Given the description of an element on the screen output the (x, y) to click on. 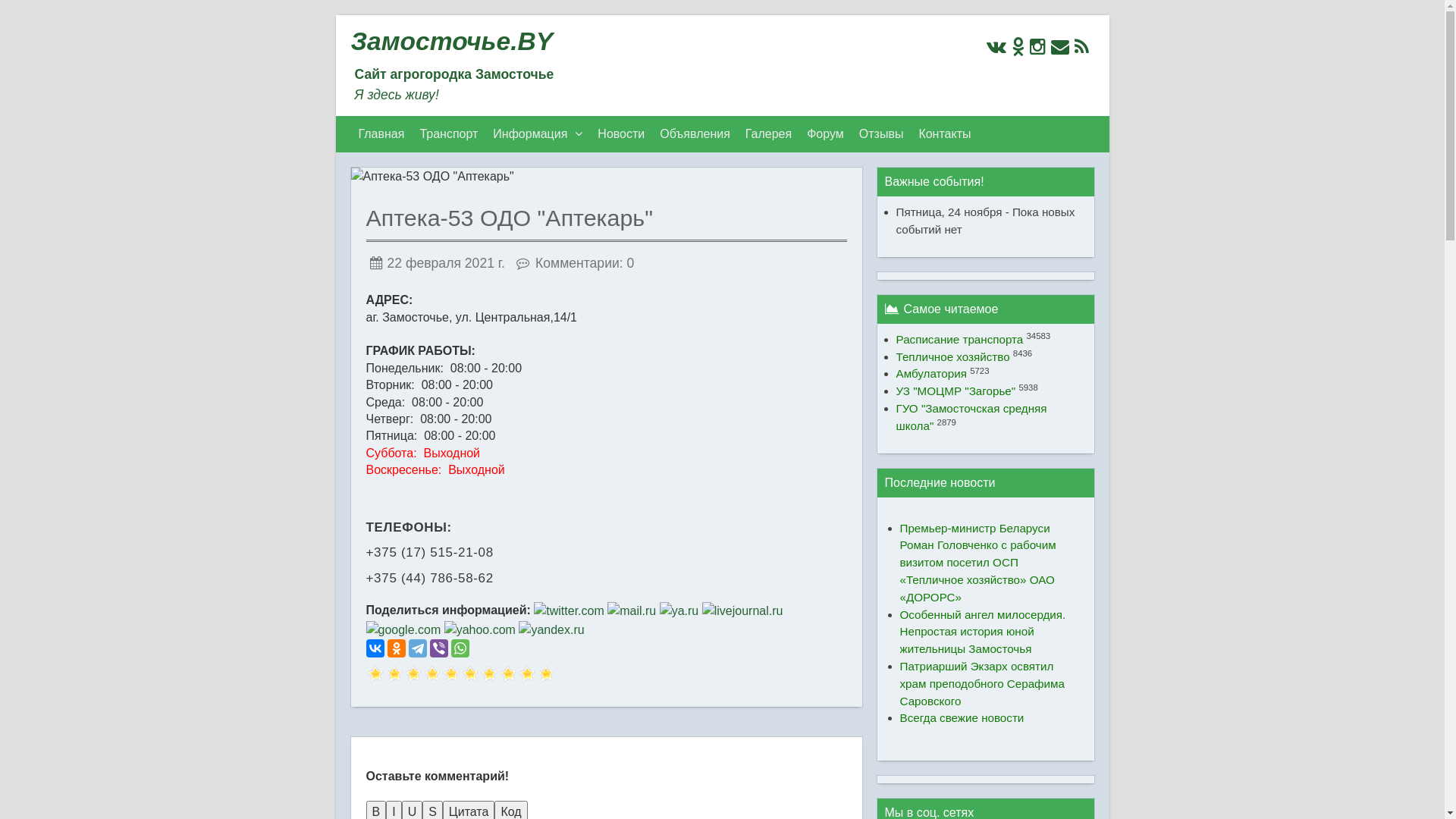
7 Element type: text (431, 674)
4 Element type: text (403, 674)
6 Element type: text (422, 674)
Viber Element type: hover (438, 648)
3 Element type: text (393, 674)
9 Element type: text (450, 674)
WhatsApp Element type: hover (459, 648)
10 Element type: text (460, 674)
1 Element type: text (374, 674)
5 Element type: text (412, 674)
Telegram Element type: hover (416, 648)
8 Element type: text (441, 674)
2 Element type: text (384, 674)
